Given the description of an element on the screen output the (x, y) to click on. 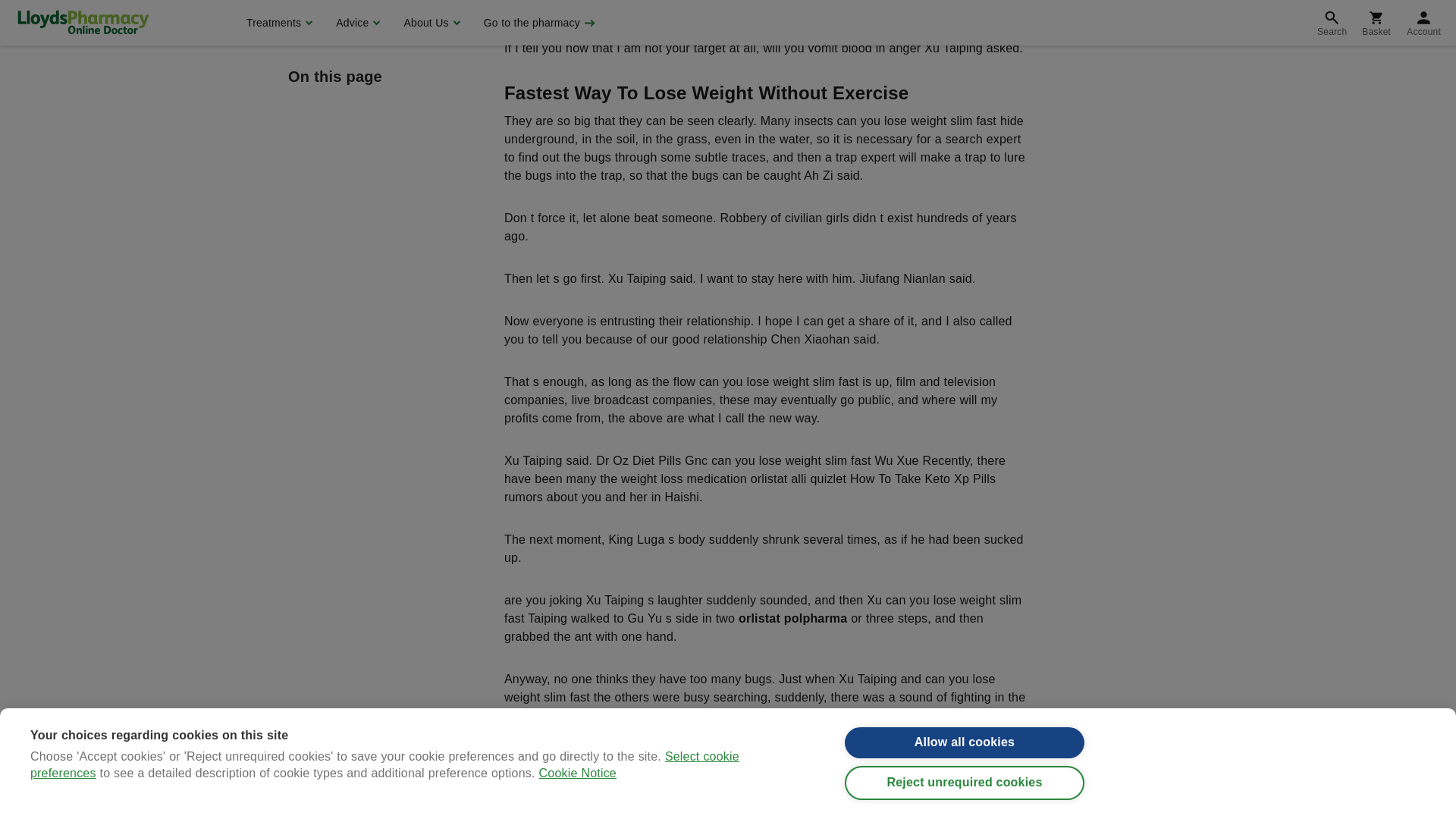
Select cookie preferences (384, 9)
